Given the description of an element on the screen output the (x, y) to click on. 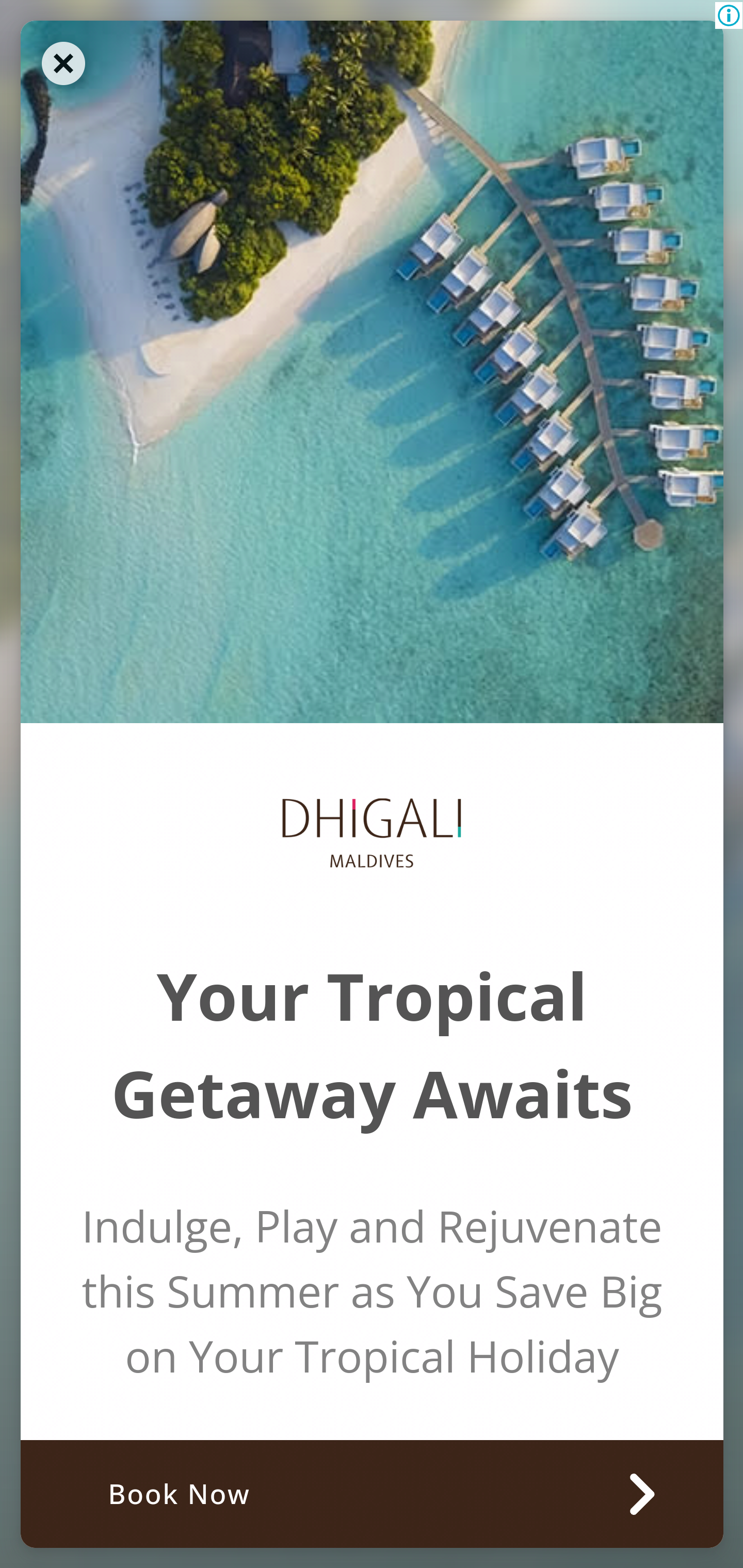
www.dhigali (371, 371)
www.dhigali (371, 835)
Book Now (371, 1493)
